Given the description of an element on the screen output the (x, y) to click on. 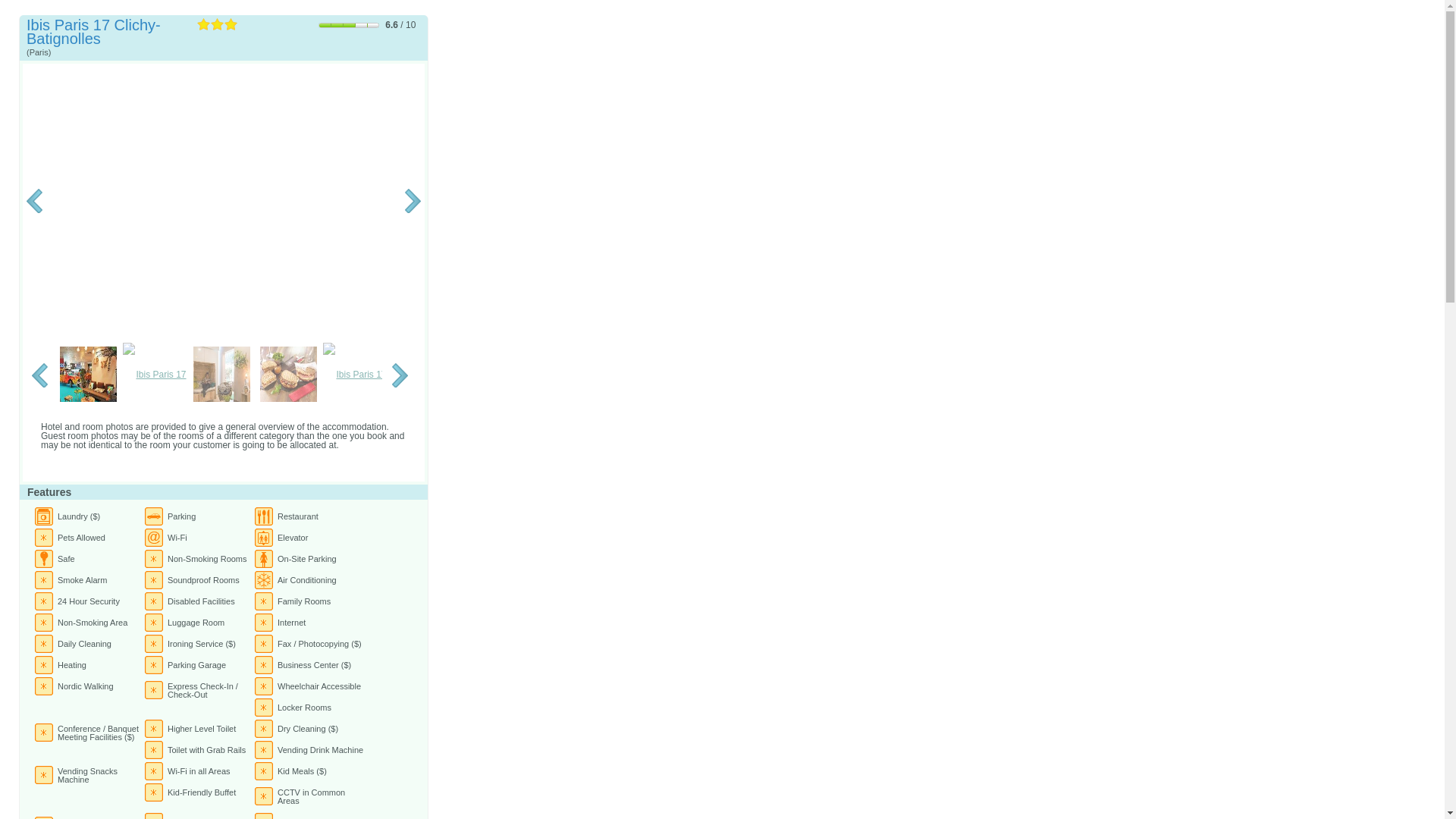
3.0 stars (216, 24)
Ibis Paris 17 Clichy-Batignolles (288, 374)
Ibis Paris 17 Clichy-Batignolles (223, 201)
Ibis Paris 17 Clichy-Batignolles (221, 374)
Ibis Paris 17 Clichy-Batignolles (87, 374)
